Given the description of an element on the screen output the (x, y) to click on. 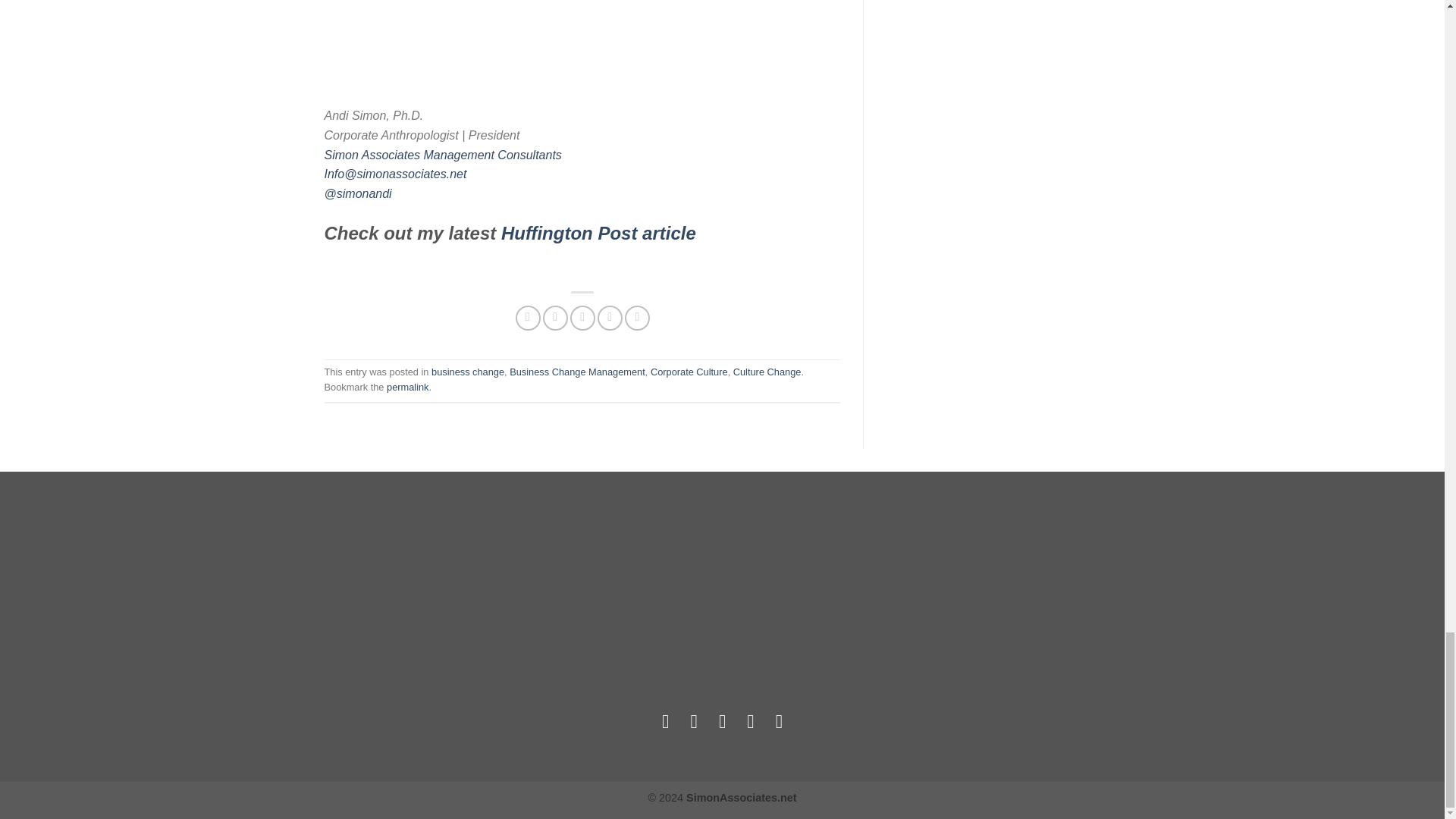
Share on Twitter (555, 317)
Share on Facebook (527, 317)
Share on LinkedIn (636, 317)
Pin on Pinterest (609, 317)
Email to a Friend (582, 317)
